Given the description of an element on the screen output the (x, y) to click on. 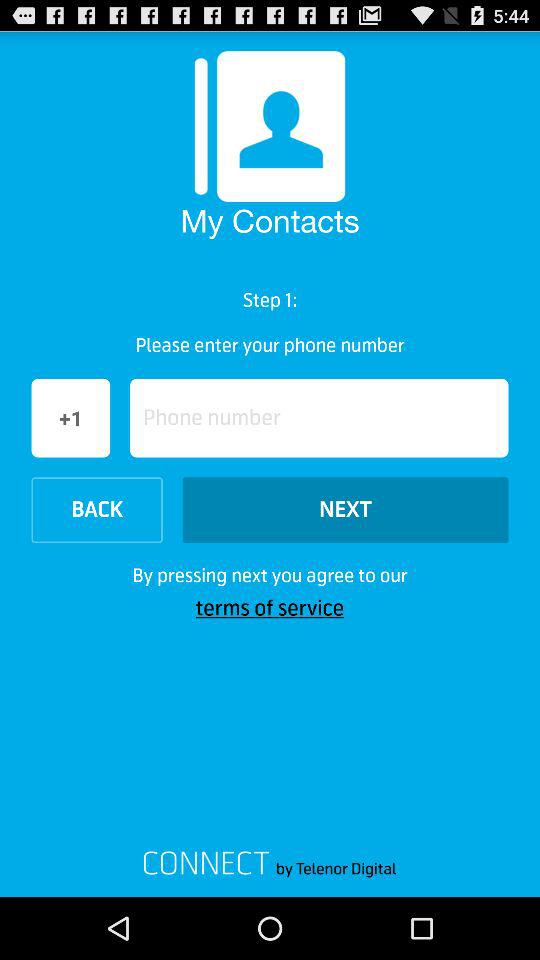
input my phone number (319, 417)
